Given the description of an element on the screen output the (x, y) to click on. 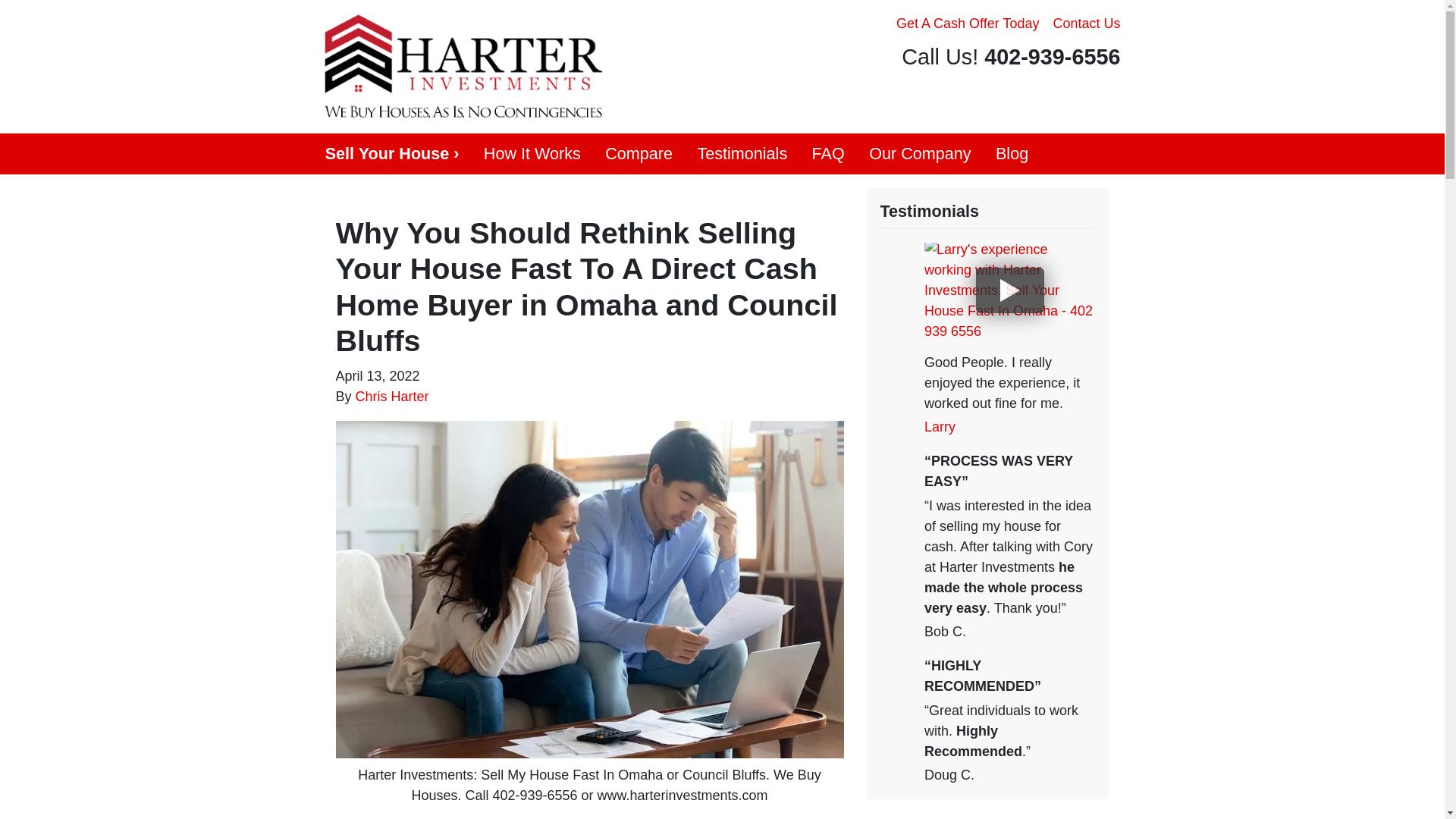
Blog (1012, 153)
Testimonials (741, 153)
Blog (1012, 153)
FAQ (828, 153)
Chris Harter (392, 396)
Testimonials (741, 153)
Compare (638, 153)
How It Works (531, 153)
Our Company (920, 153)
FAQ (828, 153)
